Given the description of an element on the screen output the (x, y) to click on. 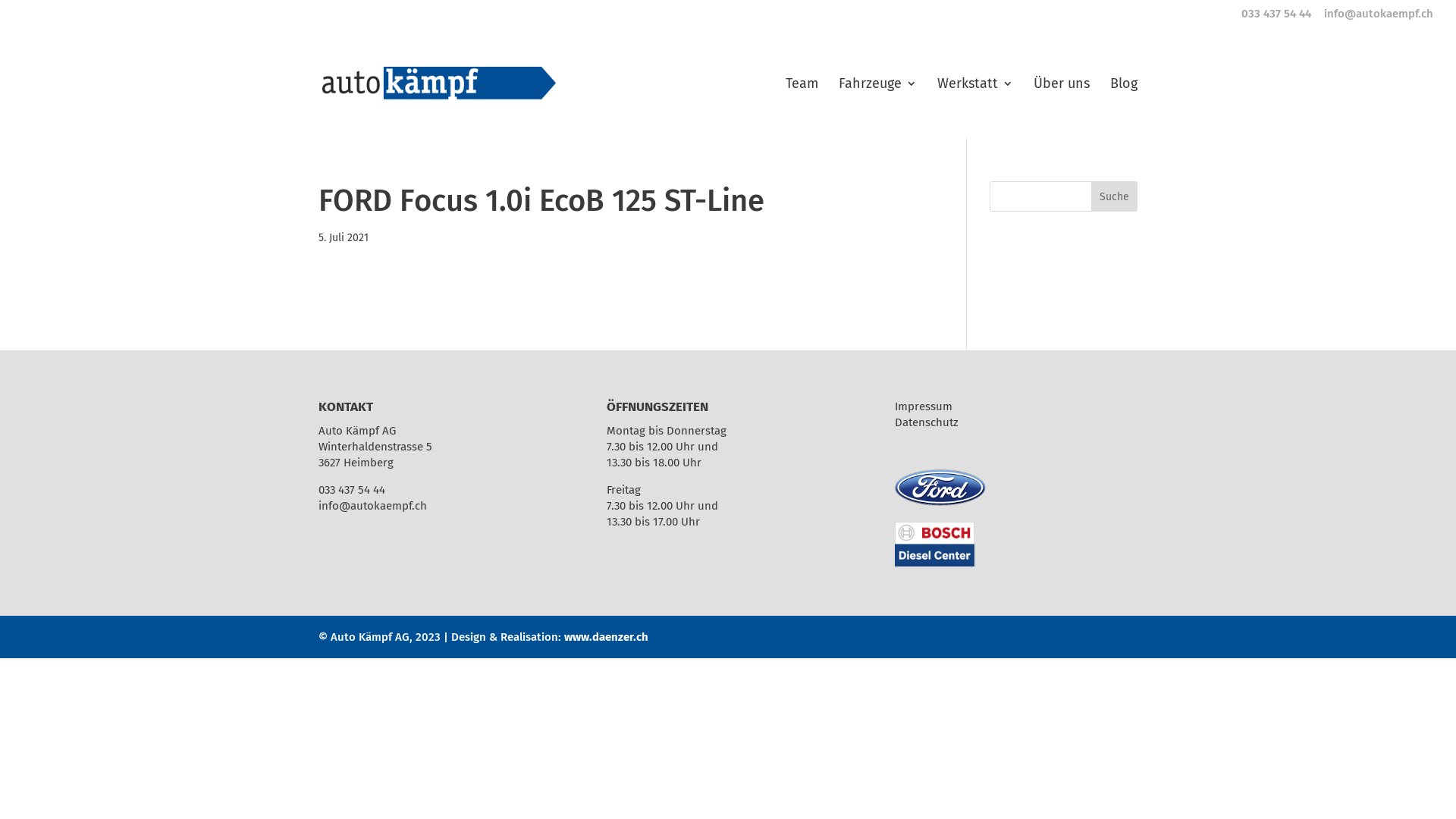
info@autokaempf.ch Element type: text (1378, 13)
Datenschutz Element type: text (926, 422)
www.daenzer.ch Element type: text (606, 636)
Impressum Element type: text (923, 406)
Team Element type: text (801, 107)
Fahrzeuge Element type: text (877, 107)
info@autokaempf.ch Element type: text (372, 505)
Werkstatt Element type: text (975, 107)
Blog Element type: text (1123, 107)
Suche Element type: text (1114, 196)
